Given the description of an element on the screen output the (x, y) to click on. 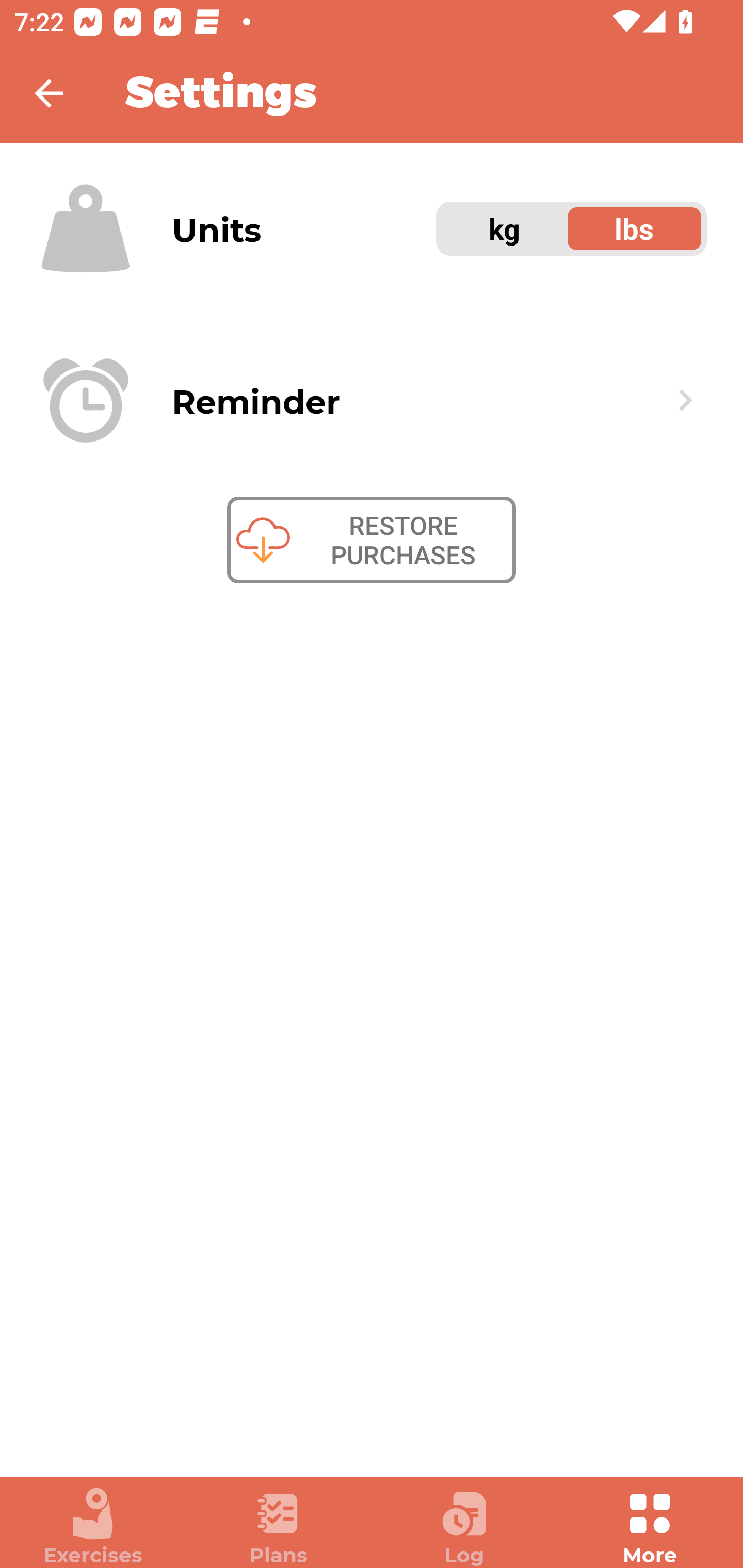
kg (504, 228)
lbs (634, 228)
Reminder (371, 400)
RESTORE PURCHASES (371, 540)
Exercises (92, 1527)
Plans (278, 1527)
Log (464, 1527)
More (650, 1527)
